Given the description of an element on the screen output the (x, y) to click on. 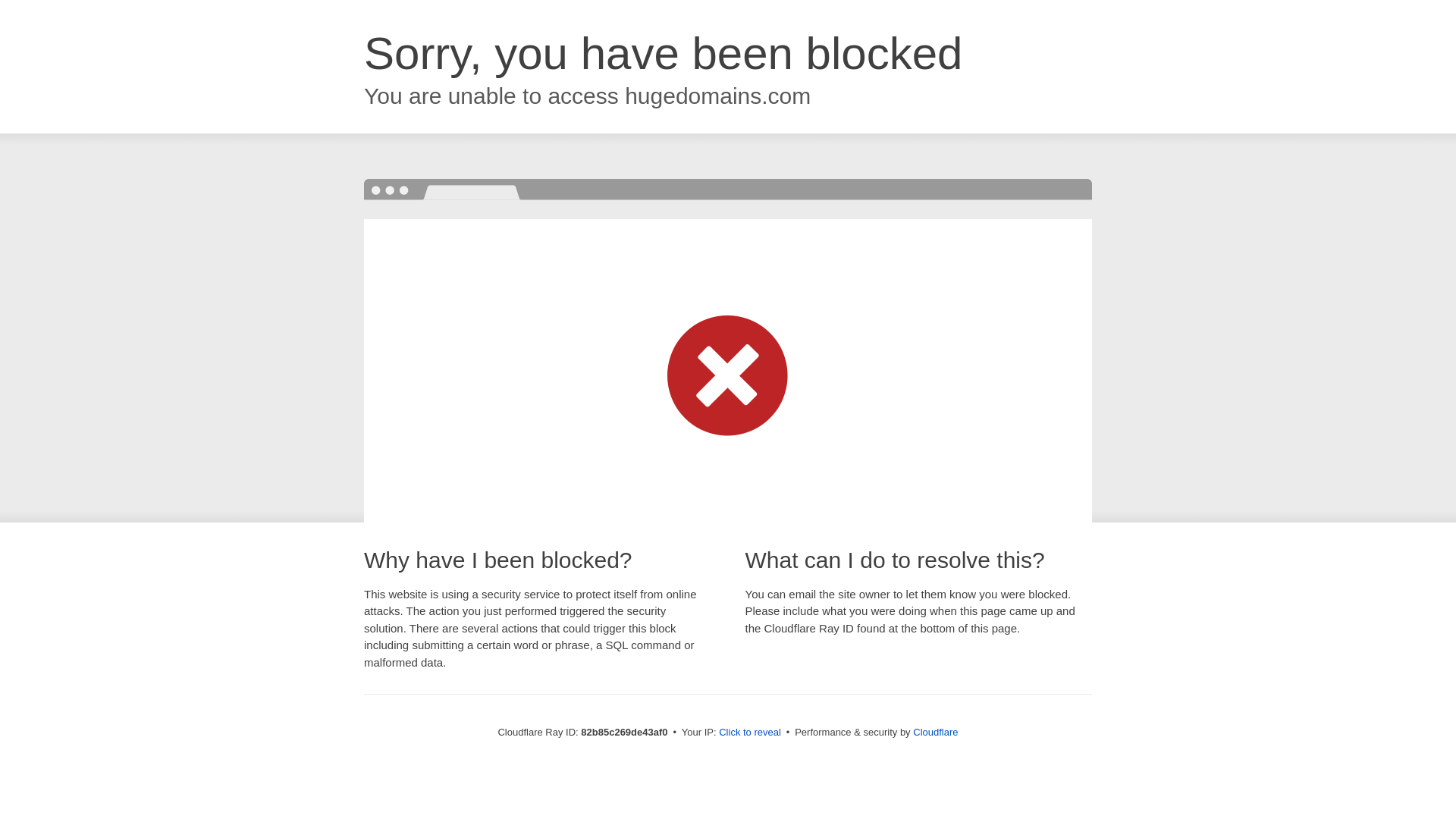
Cloudflare Element type: text (935, 731)
Click to reveal Element type: text (749, 732)
